Given the description of an element on the screen output the (x, y) to click on. 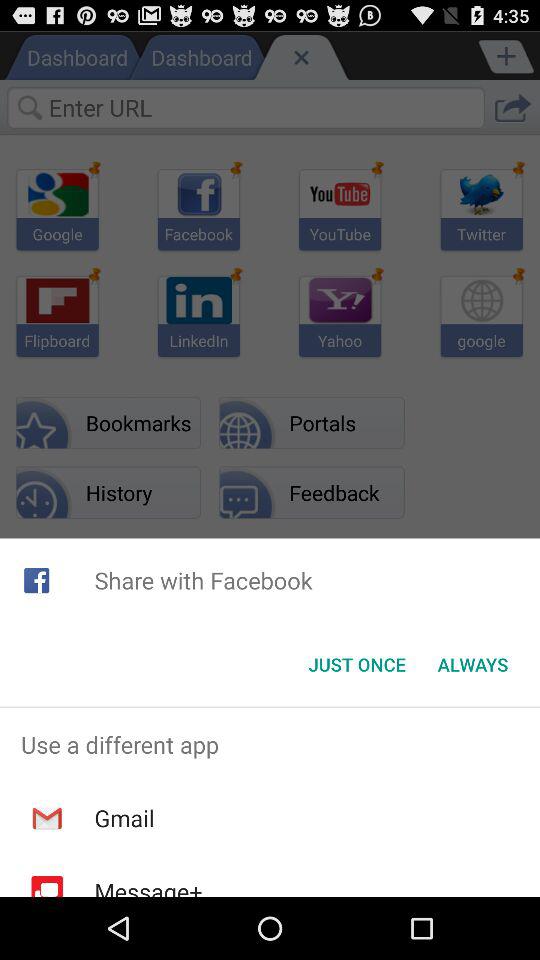
click the icon below use a different item (124, 817)
